Given the description of an element on the screen output the (x, y) to click on. 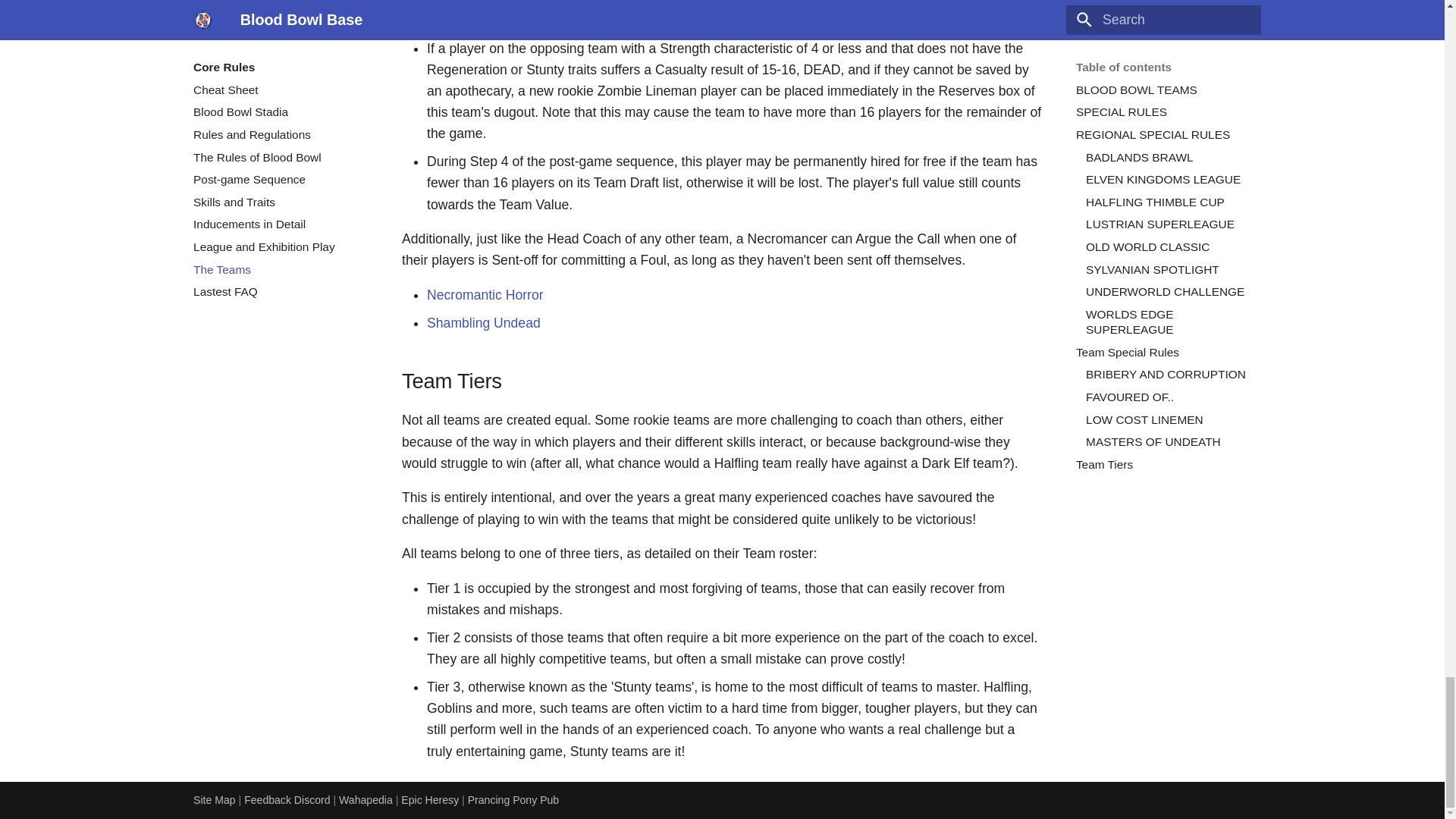
Epic Heresy (431, 799)
Prancing Pony Pub (513, 799)
Feedback Discord Channel (288, 799)
Wahapedia (367, 799)
Site Map (215, 799)
